Given the description of an element on the screen output the (x, y) to click on. 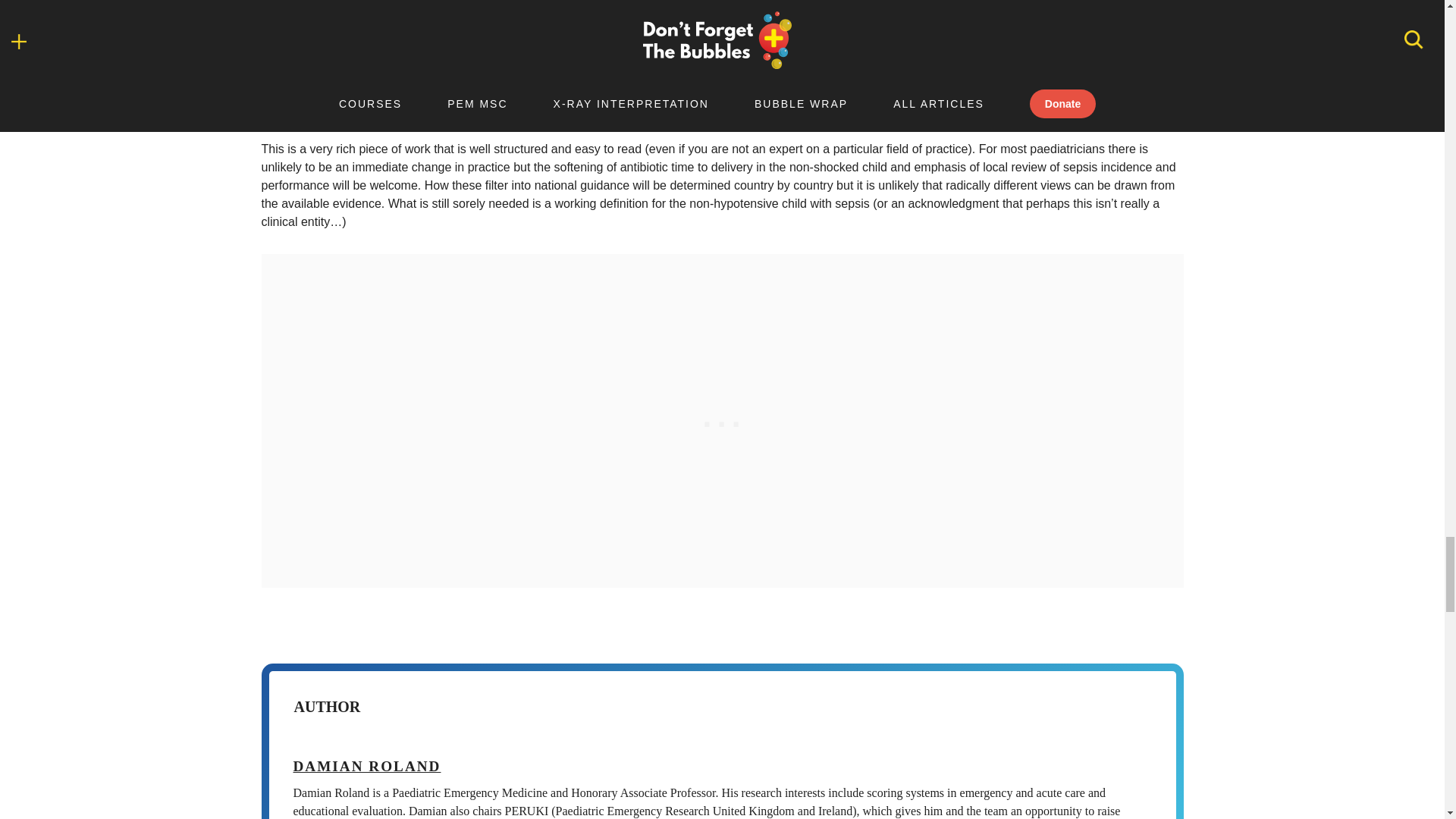
Damian Roland (366, 765)
